Given the description of an element on the screen output the (x, y) to click on. 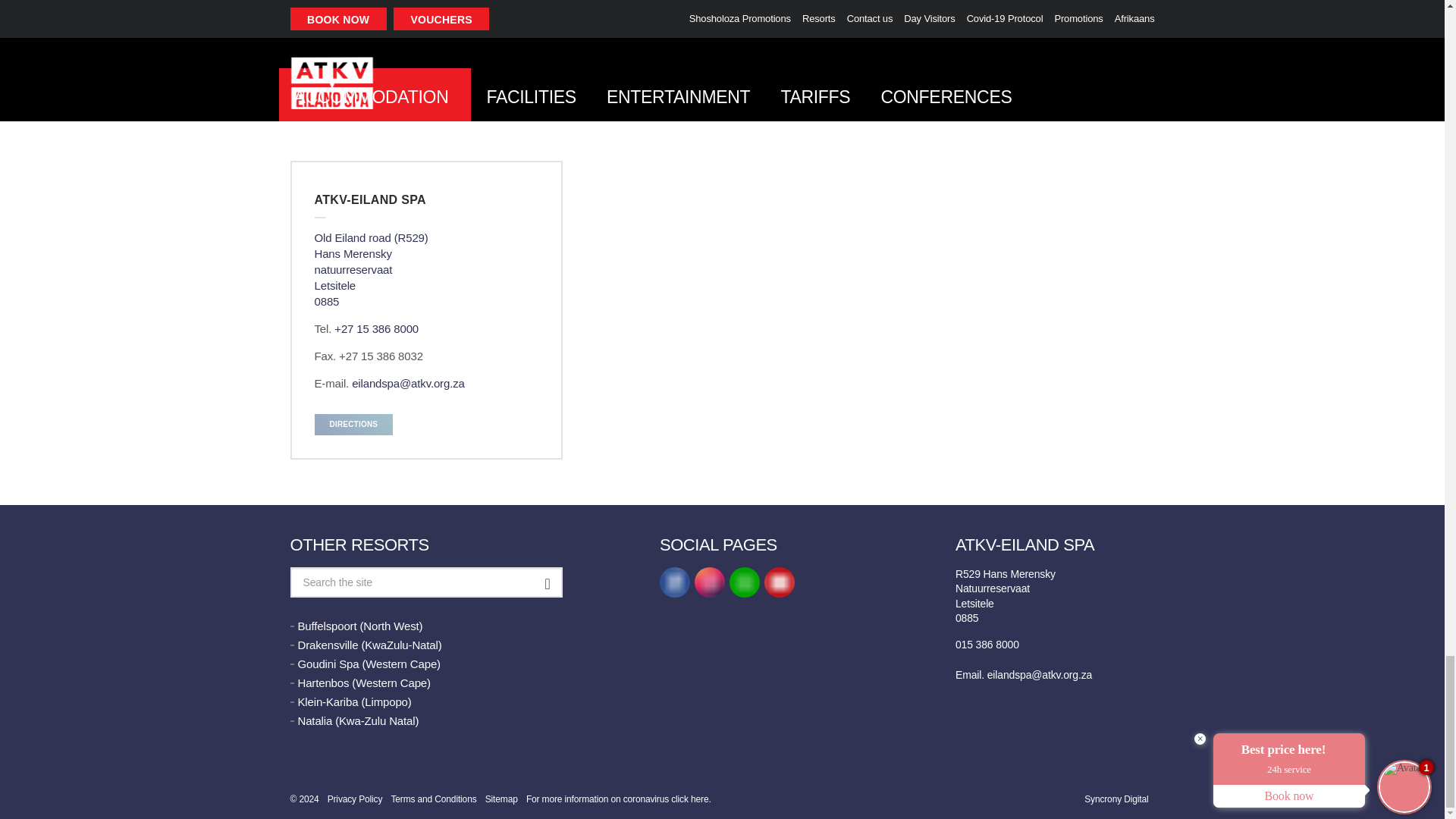
ATKV-EILAND SPA (426, 199)
DIRECTIONS (353, 424)
UNITS (180, 17)
WHEELCHAIR-FRIENDLY UNIT (902, 17)
YOUTH HOSTEL (541, 17)
